Given the description of an element on the screen output the (x, y) to click on. 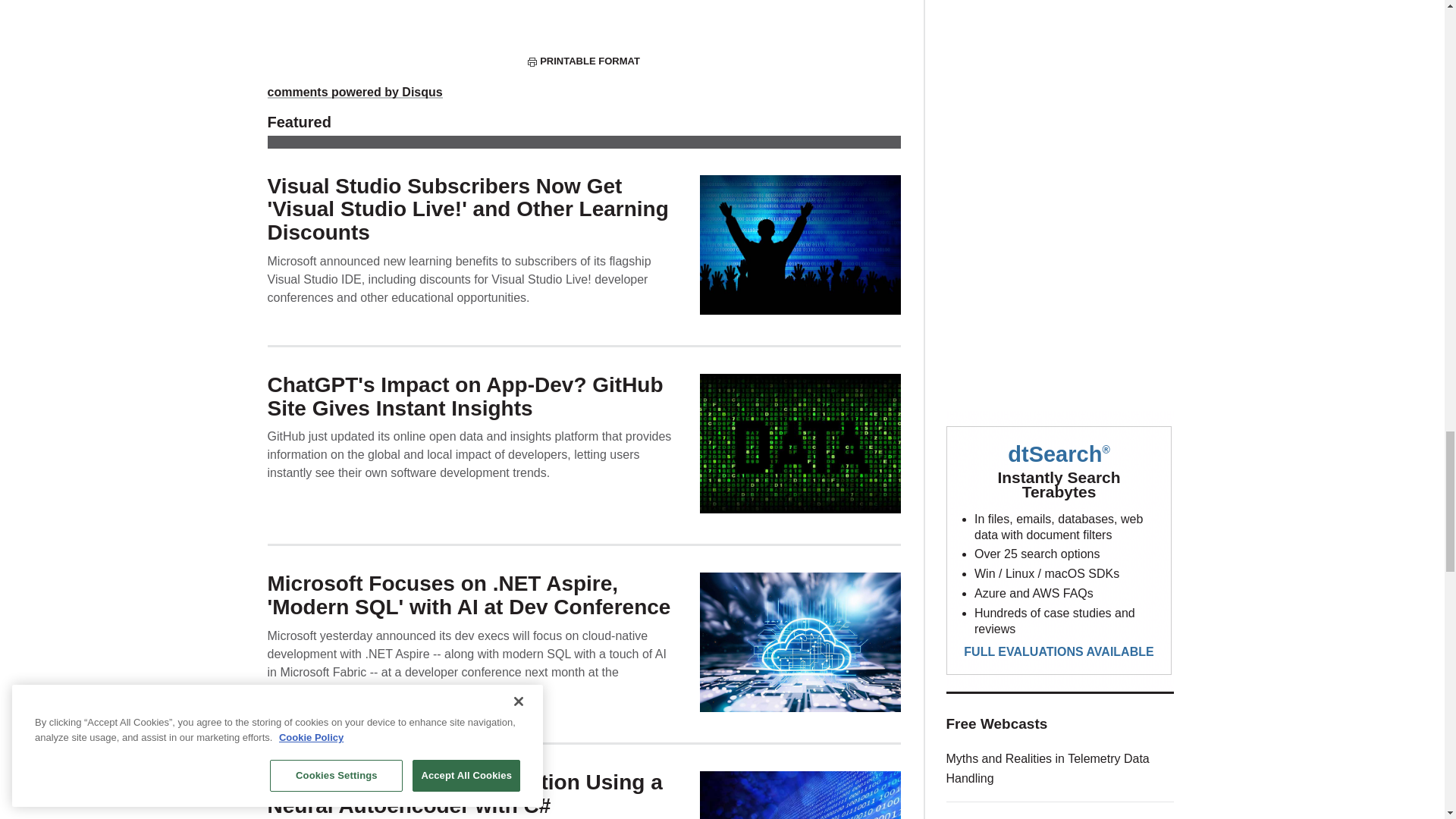
3rd party ad content (1059, 72)
3rd party ad content (1059, 551)
3rd party ad content (1059, 278)
